Given the description of an element on the screen output the (x, y) to click on. 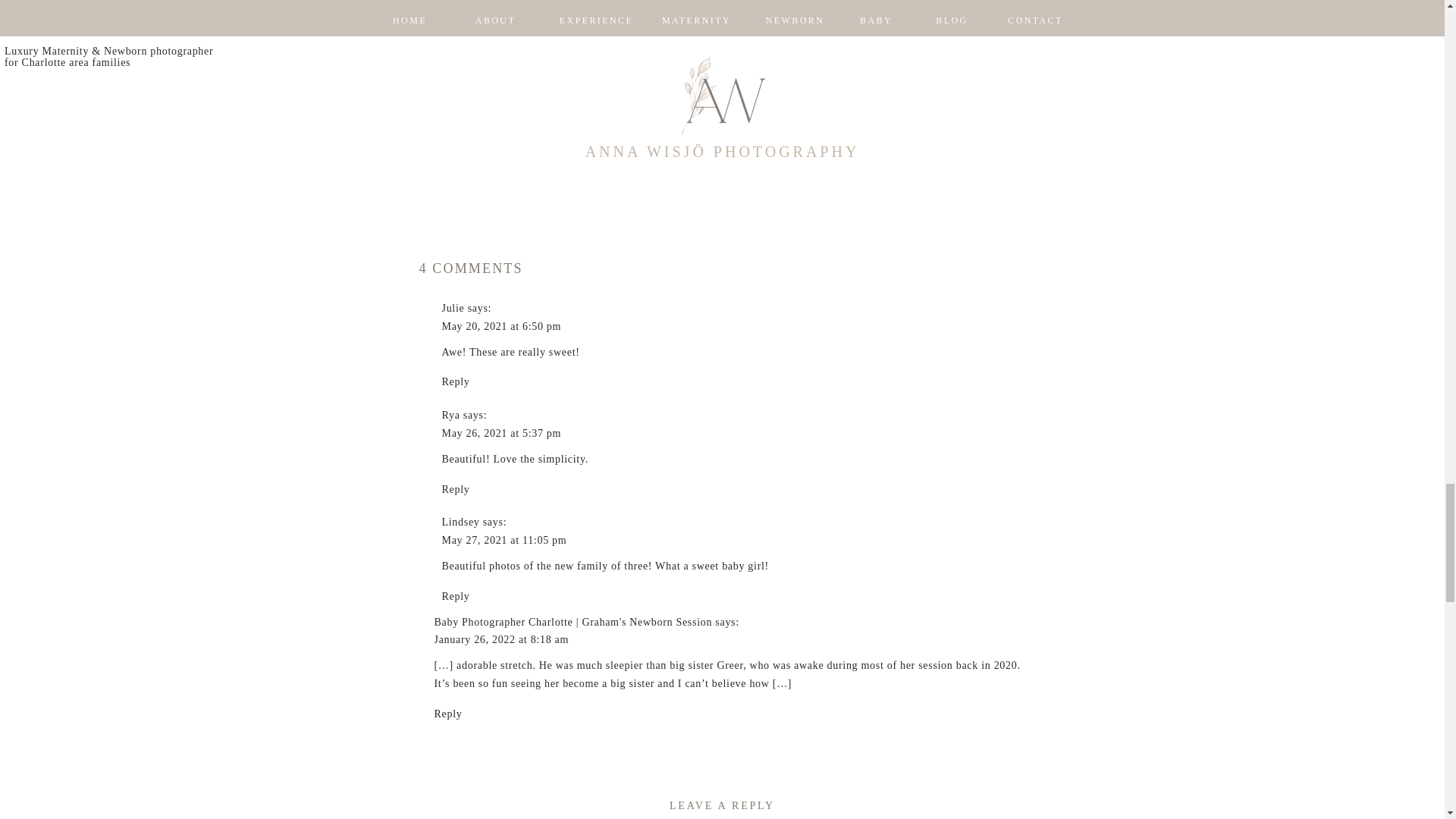
January 26, 2022 at 8:18 am (501, 639)
Reply (454, 595)
May 20, 2021 at 6:50 pm (500, 326)
May 26, 2021 at 5:37 pm (500, 432)
Lindsey (460, 521)
May 27, 2021 at 11:05 pm (503, 540)
Reply (454, 489)
Reply (447, 713)
Reply (454, 381)
